Given the description of an element on the screen output the (x, y) to click on. 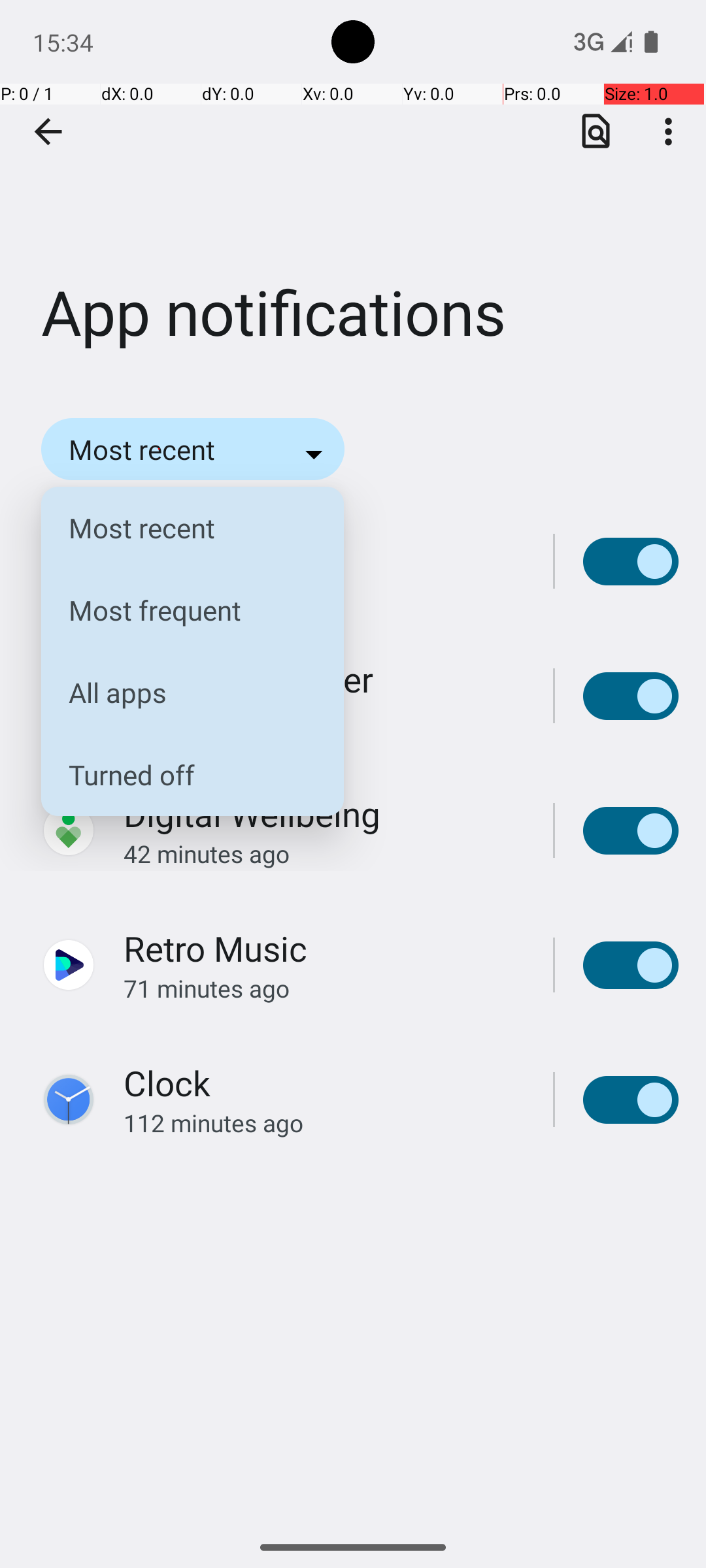
Most recent Element type: android.widget.TextView (182, 527)
Most frequent Element type: android.widget.TextView (182, 610)
All apps Element type: android.widget.TextView (182, 692)
Turned off Element type: android.widget.TextView (182, 774)
